Given the description of an element on the screen output the (x, y) to click on. 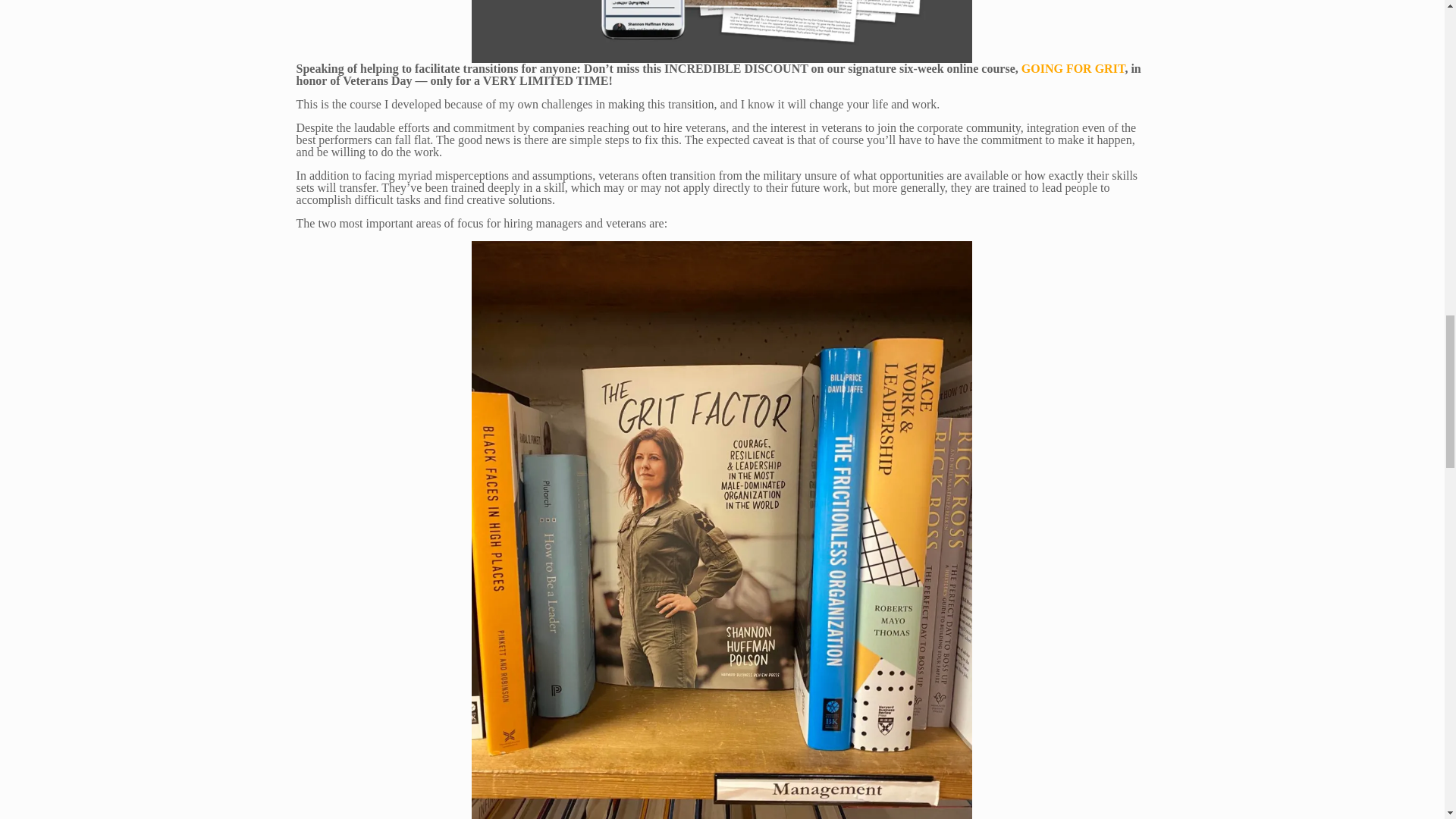
GOING FOR GRIT (1073, 68)
